Given the description of an element on the screen output the (x, y) to click on. 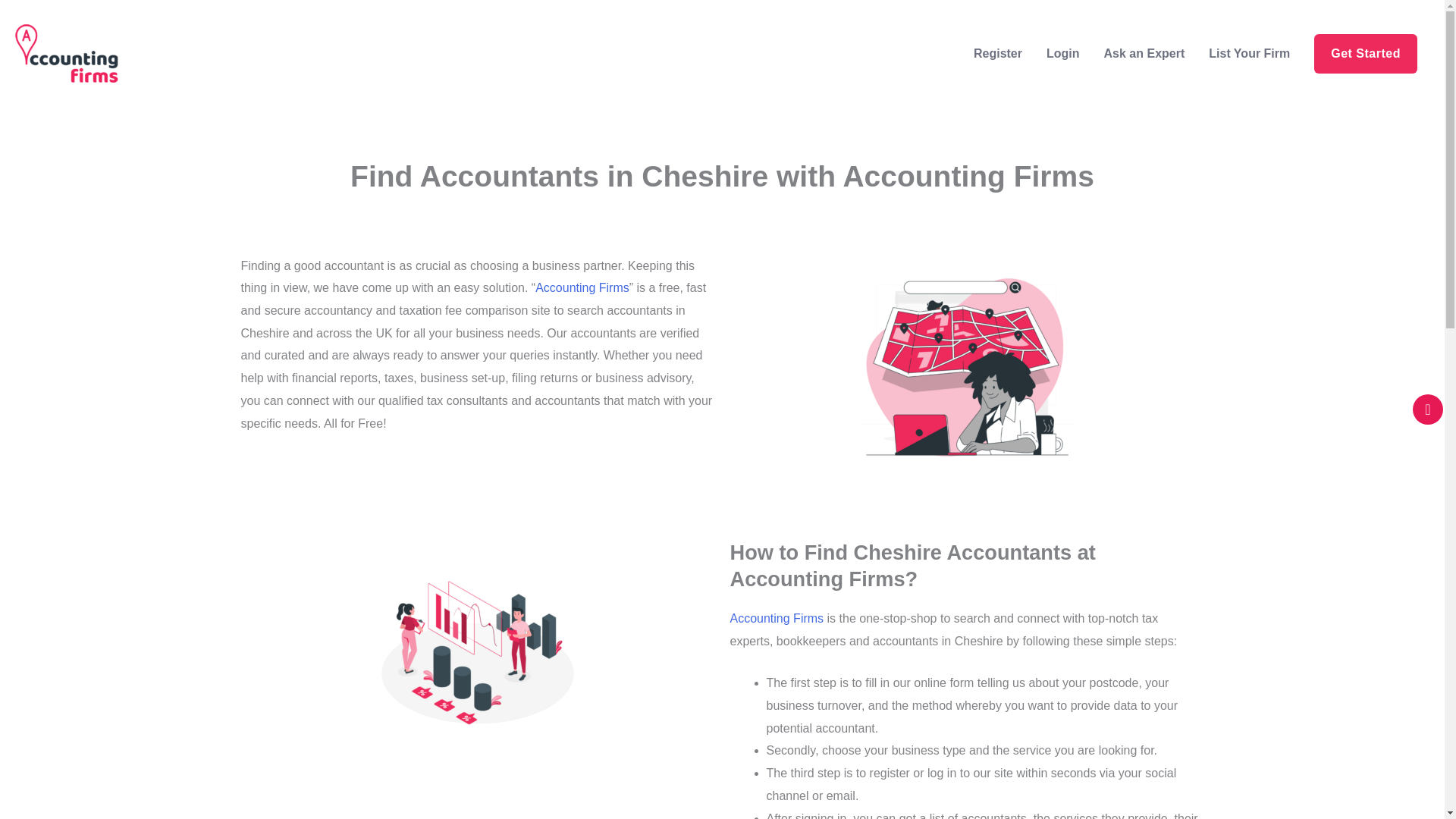
Get Started (1365, 52)
List Your Firm (1248, 52)
Register (996, 52)
Login (1062, 52)
Accounting Firms (776, 617)
Accounting Firms (581, 287)
Ask an Expert (1144, 52)
